Given the description of an element on the screen output the (x, y) to click on. 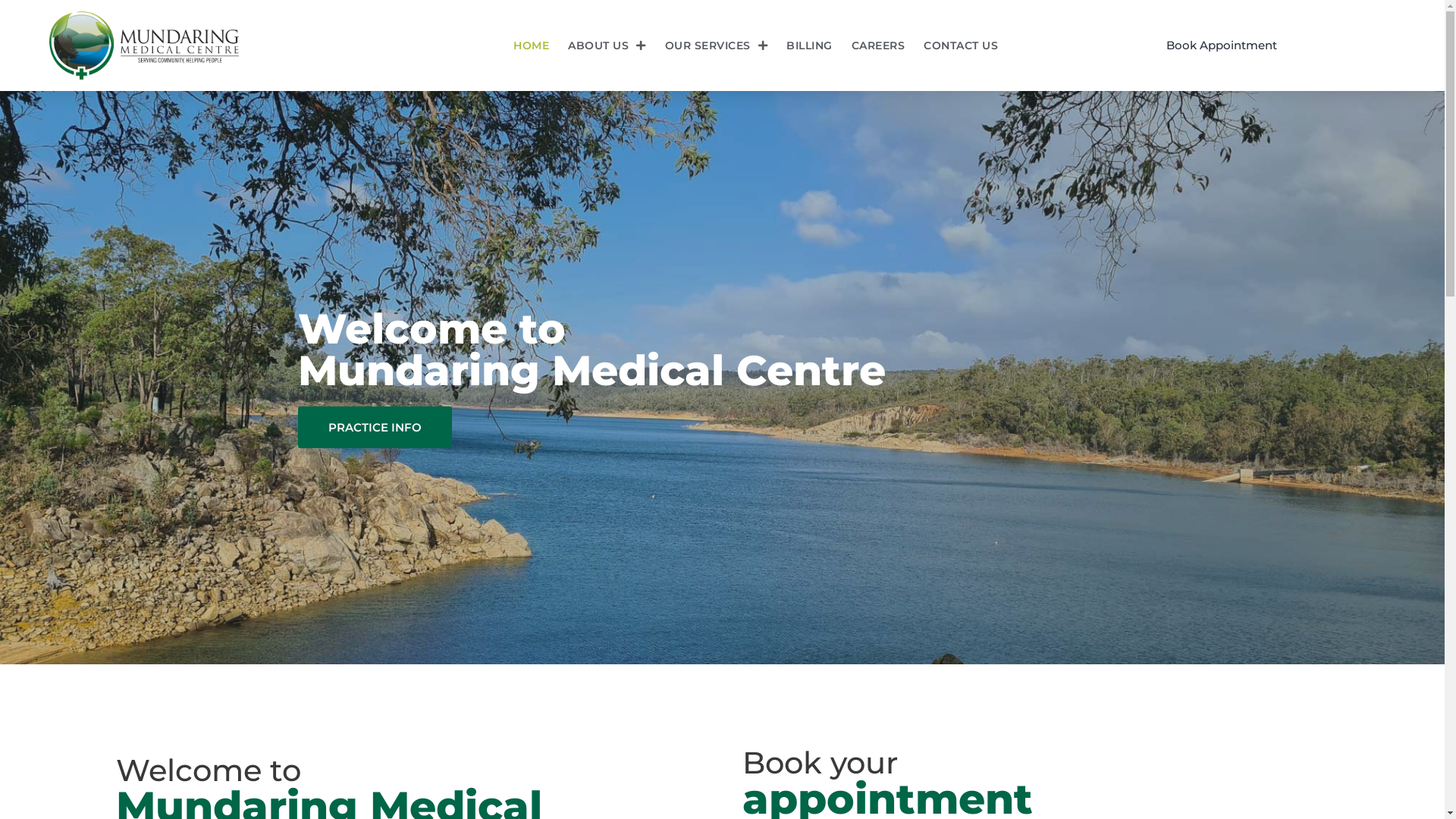
HOME Element type: text (530, 45)
CONTACT US Element type: text (960, 45)
mundmed-logo Element type: hover (143, 44)
BILLING Element type: text (809, 45)
PRACTICE INFO Element type: text (374, 427)
ABOUT US Element type: text (606, 45)
OUR SERVICES Element type: text (716, 45)
Book Appointment Element type: text (1221, 44)
CAREERS Element type: text (878, 45)
